Given the description of an element on the screen output the (x, y) to click on. 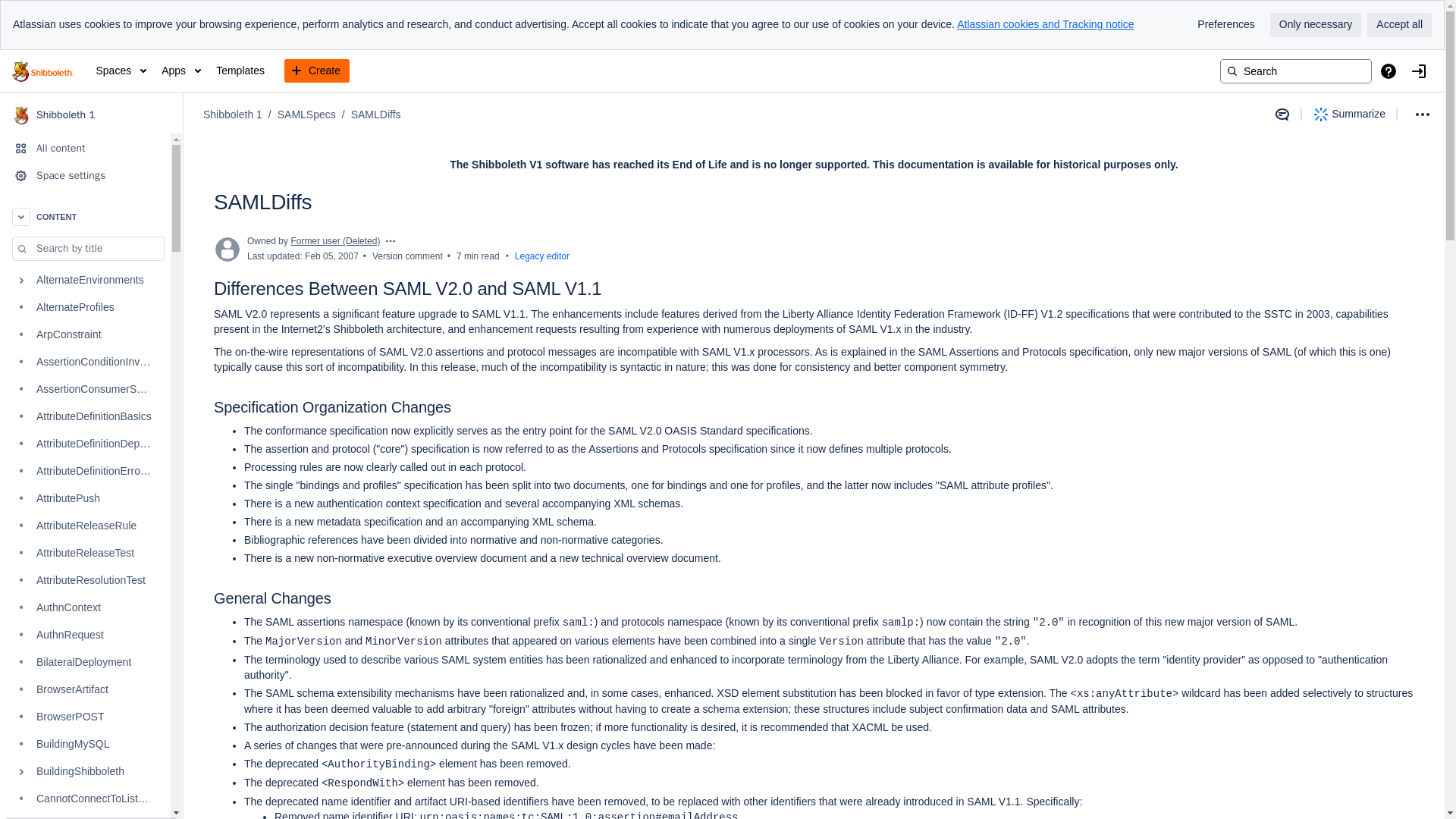
Spaces (120, 70)
Apps (181, 70)
Only necessary (1315, 24)
Atlassian cookies and Tracking notice (1045, 24)
Space settings (84, 175)
AlternateEnvironments (84, 280)
Templates (240, 70)
All content (84, 148)
BuildingShibboleth (84, 771)
CONTENT (84, 216)
Create (316, 70)
Shibboleth 1 (90, 114)
Accept all (1399, 24)
Preferences (1225, 24)
